Given the description of an element on the screen output the (x, y) to click on. 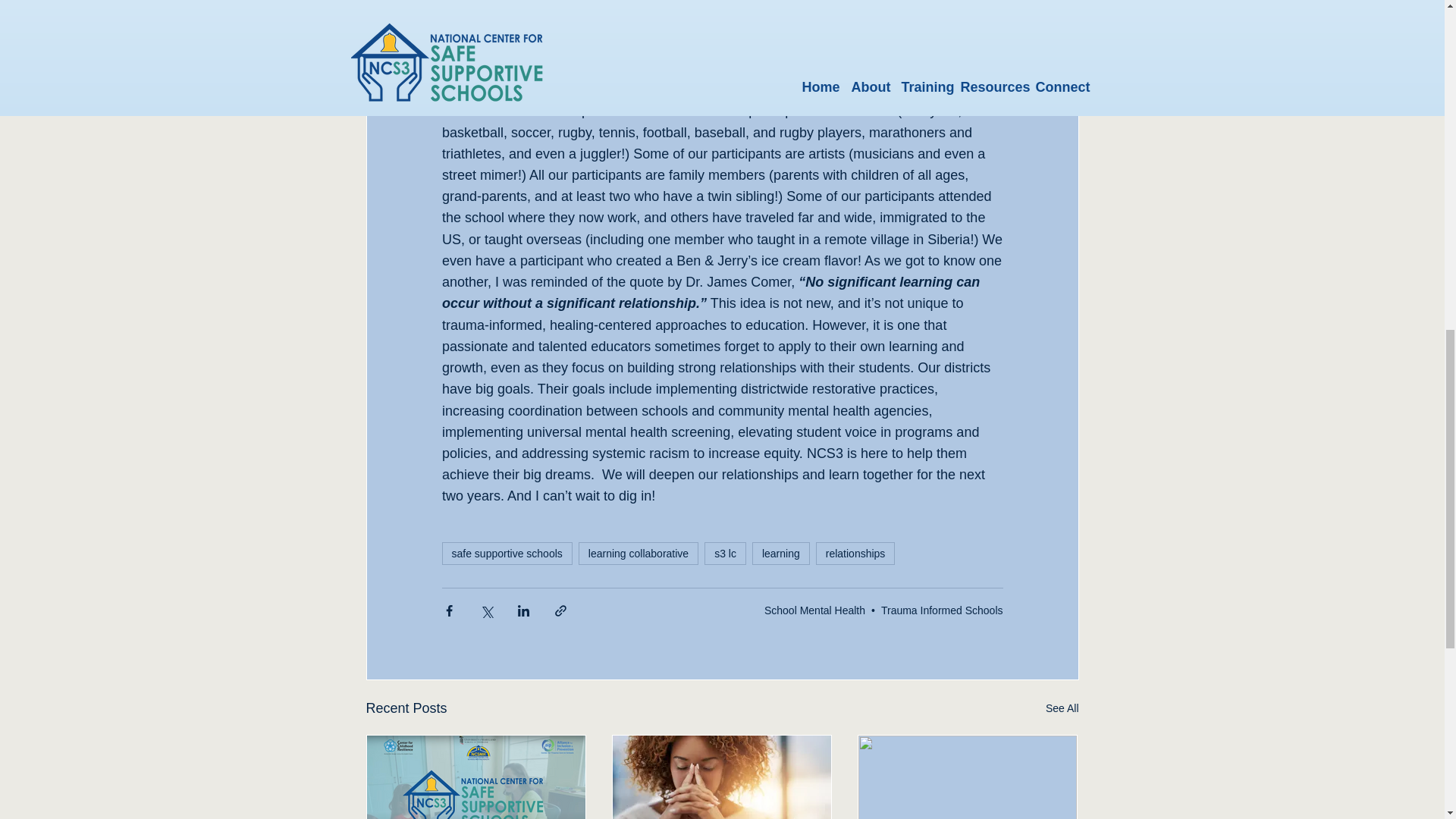
See All (1061, 708)
School Mental Health (814, 610)
relationships (855, 553)
learning (780, 553)
learning collaborative (638, 553)
safe supportive schools (506, 553)
s3 lc (724, 553)
Trauma Informed Schools (941, 610)
